Given the description of an element on the screen output the (x, y) to click on. 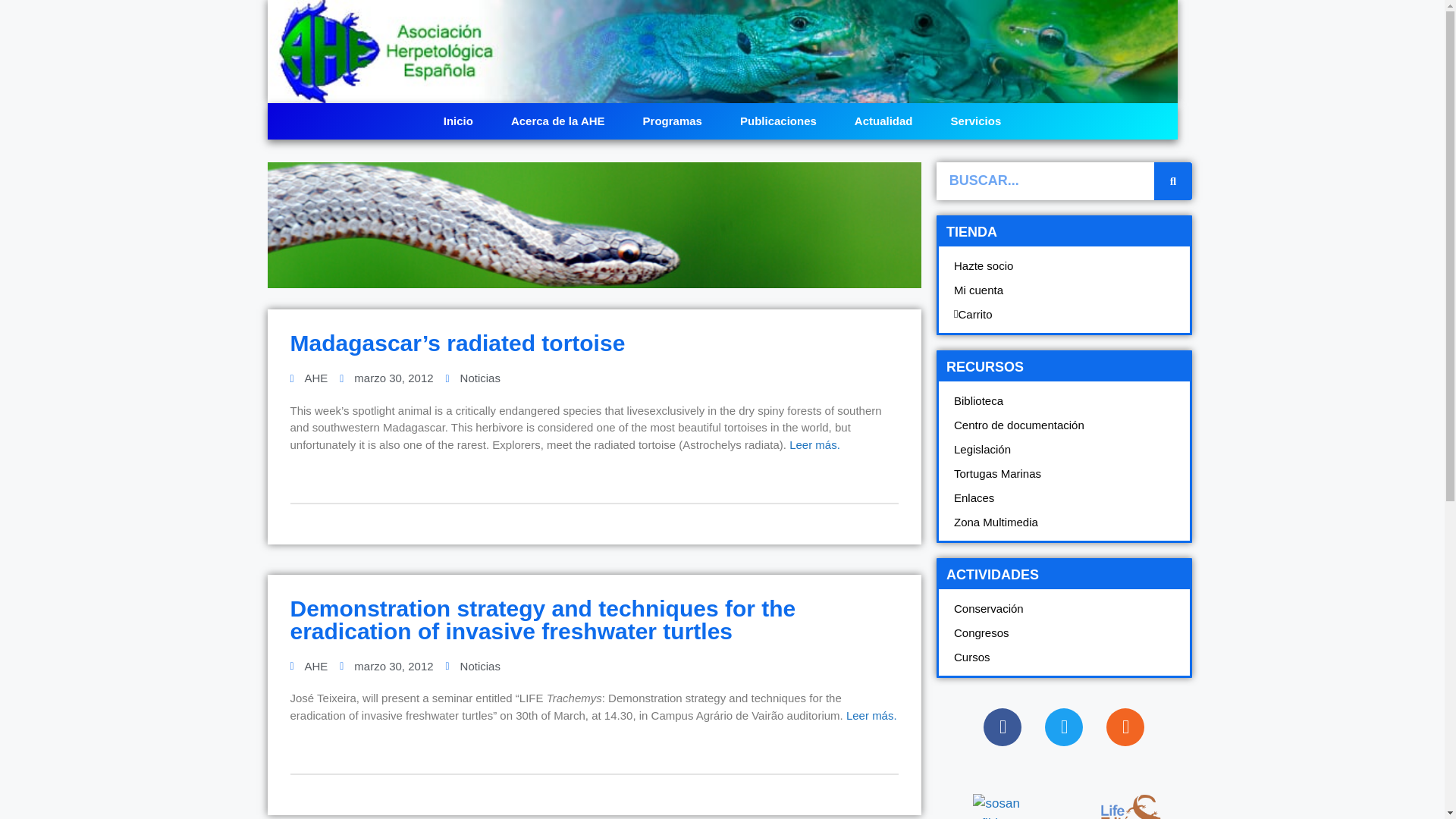
Acerca de la AHE (558, 121)
Publicaciones (777, 121)
Servicios (975, 121)
Programas (672, 121)
Actualidad (883, 121)
